Given the description of an element on the screen output the (x, y) to click on. 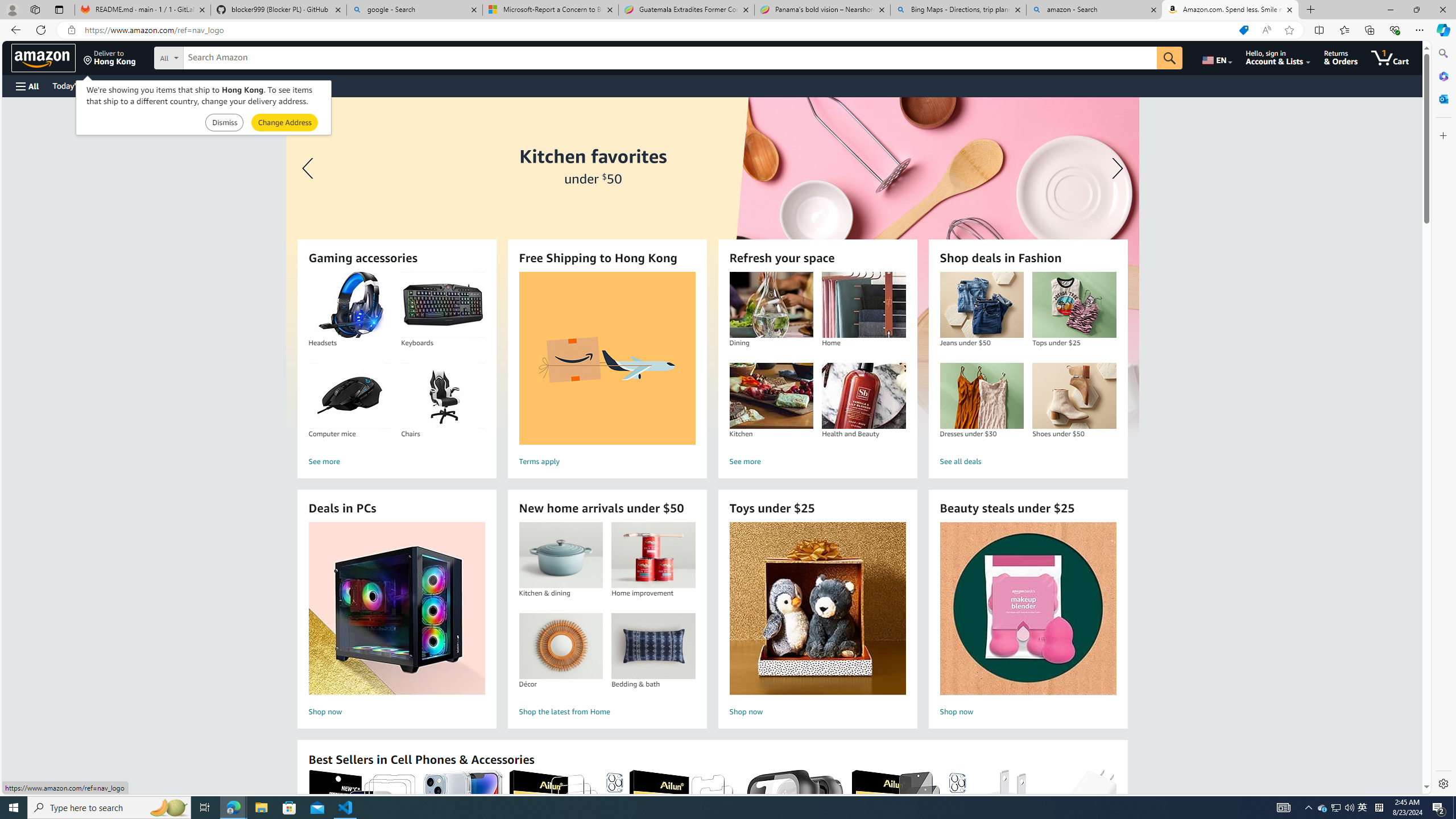
Read aloud this page (Ctrl+Shift+U) (1266, 29)
Copilot (Ctrl+Shift+.) (1442, 29)
Refresh (40, 29)
Close (1442, 9)
Tops under $25 (1074, 304)
Kitchen (770, 395)
Chairs (442, 395)
Settings and more (Alt+F) (1419, 29)
Shop the latest from Home (606, 712)
Restore (1416, 9)
Beauty steals under $25 Shop now (1028, 620)
Computer mice (350, 395)
Shop Kitchen favorites (711, 267)
Settings (1442, 783)
